Given the description of an element on the screen output the (x, y) to click on. 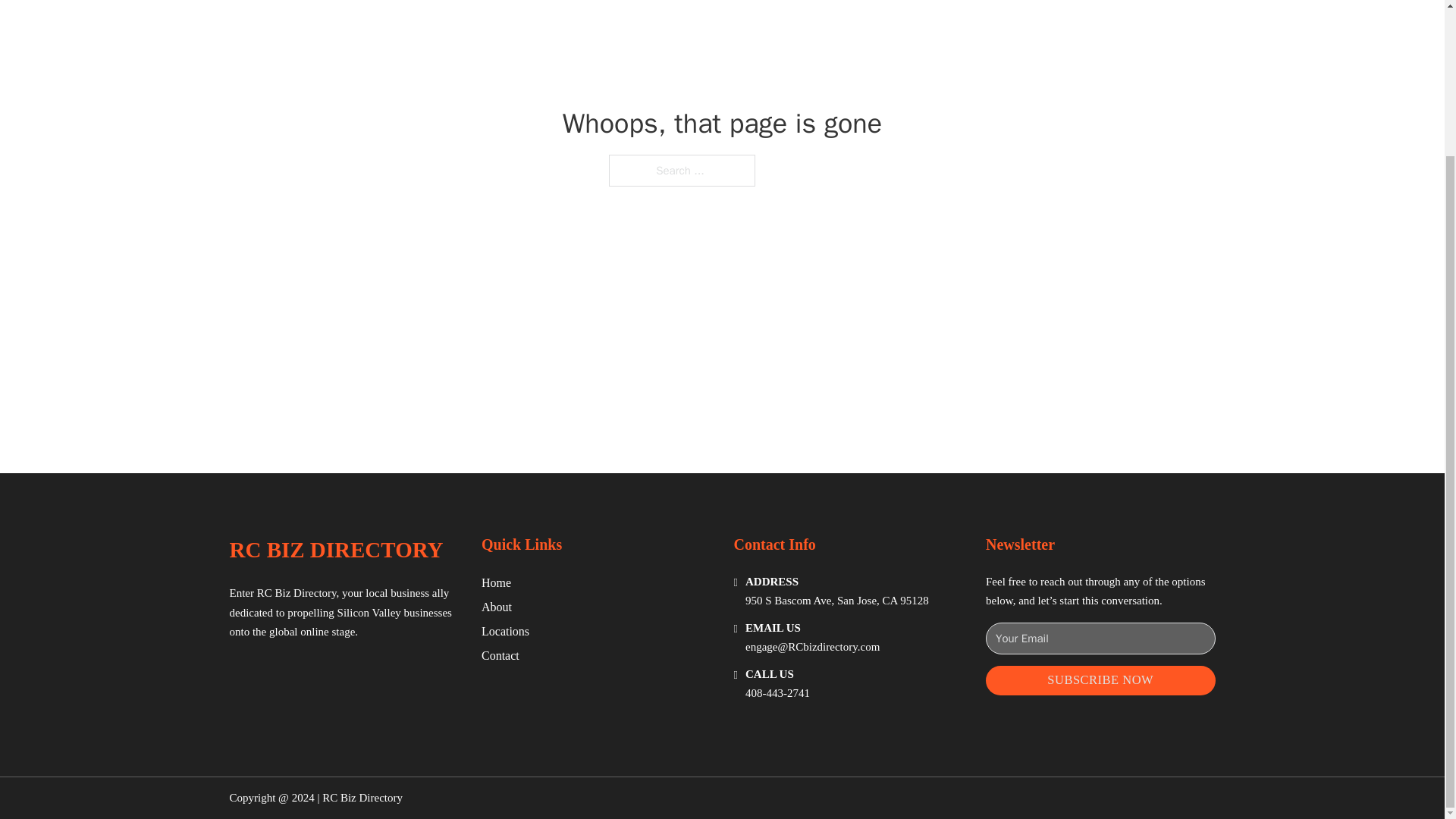
Contact (500, 655)
RC BIZ DIRECTORY (335, 549)
Home (496, 582)
408-443-2741 (777, 693)
About (496, 607)
Locations (505, 630)
SUBSCRIBE NOW (1100, 680)
